Given the description of an element on the screen output the (x, y) to click on. 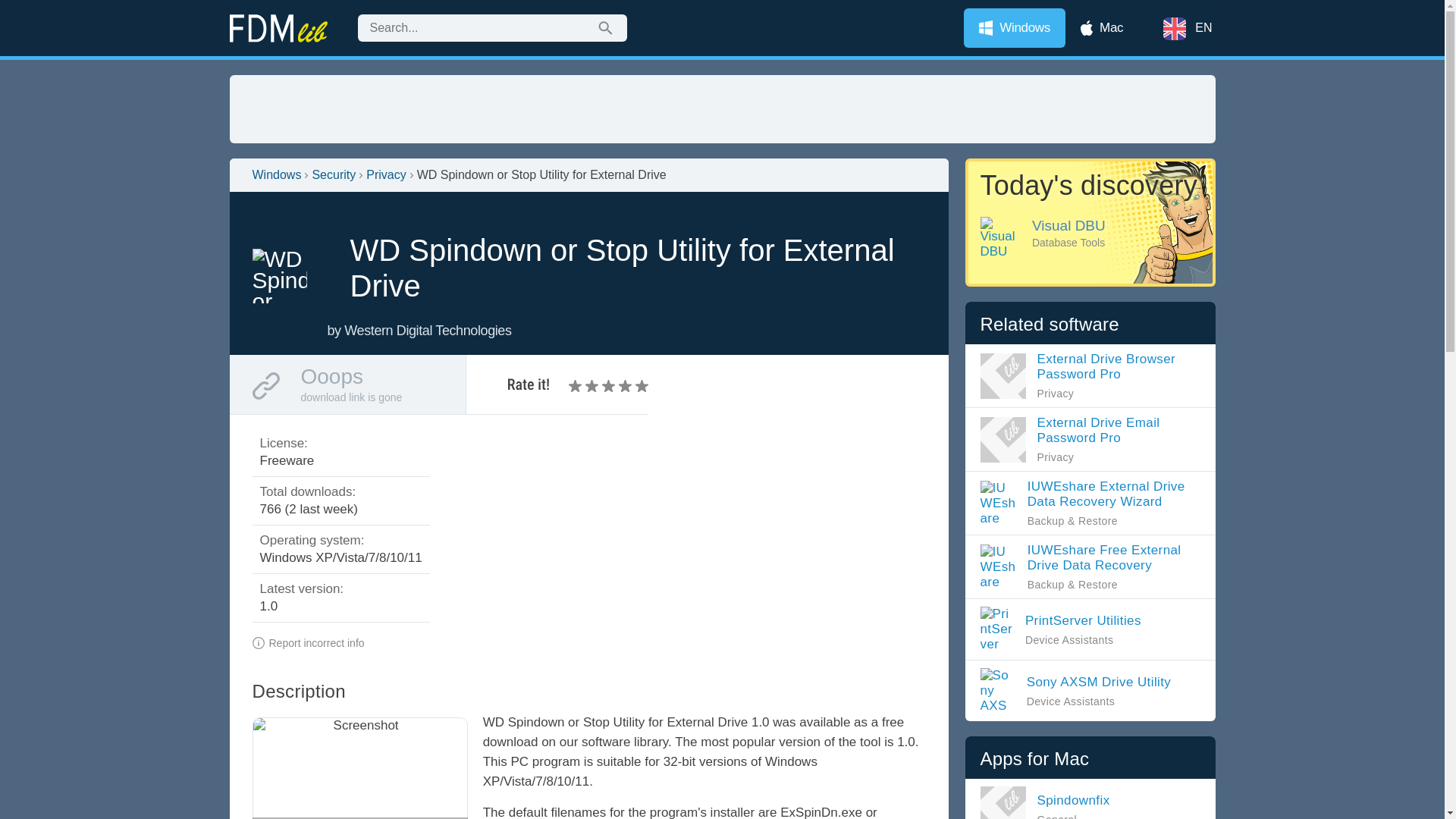
3rd party ad content (721, 109)
Sony AXSM Drive Utility (1066, 628)
IUWEshare Free External Drive Data Recovery (1079, 690)
3 (1089, 566)
External Drive Email Password Pro (593, 385)
Windows (1089, 439)
PrintServer Utilities (1079, 690)
Windows (276, 174)
